Given the description of an element on the screen output the (x, y) to click on. 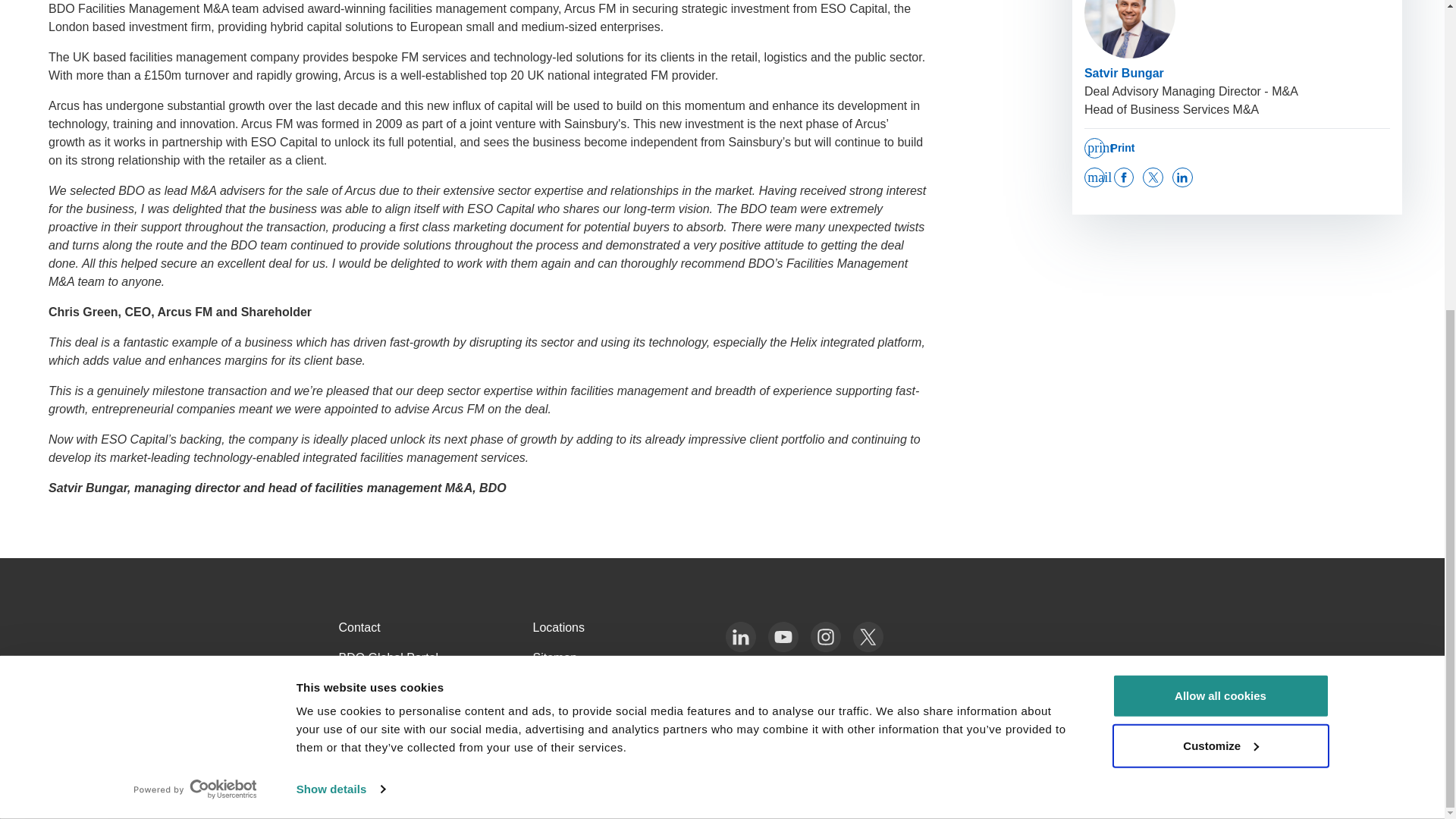
Show details (340, 296)
